Given the description of an element on the screen output the (x, y) to click on. 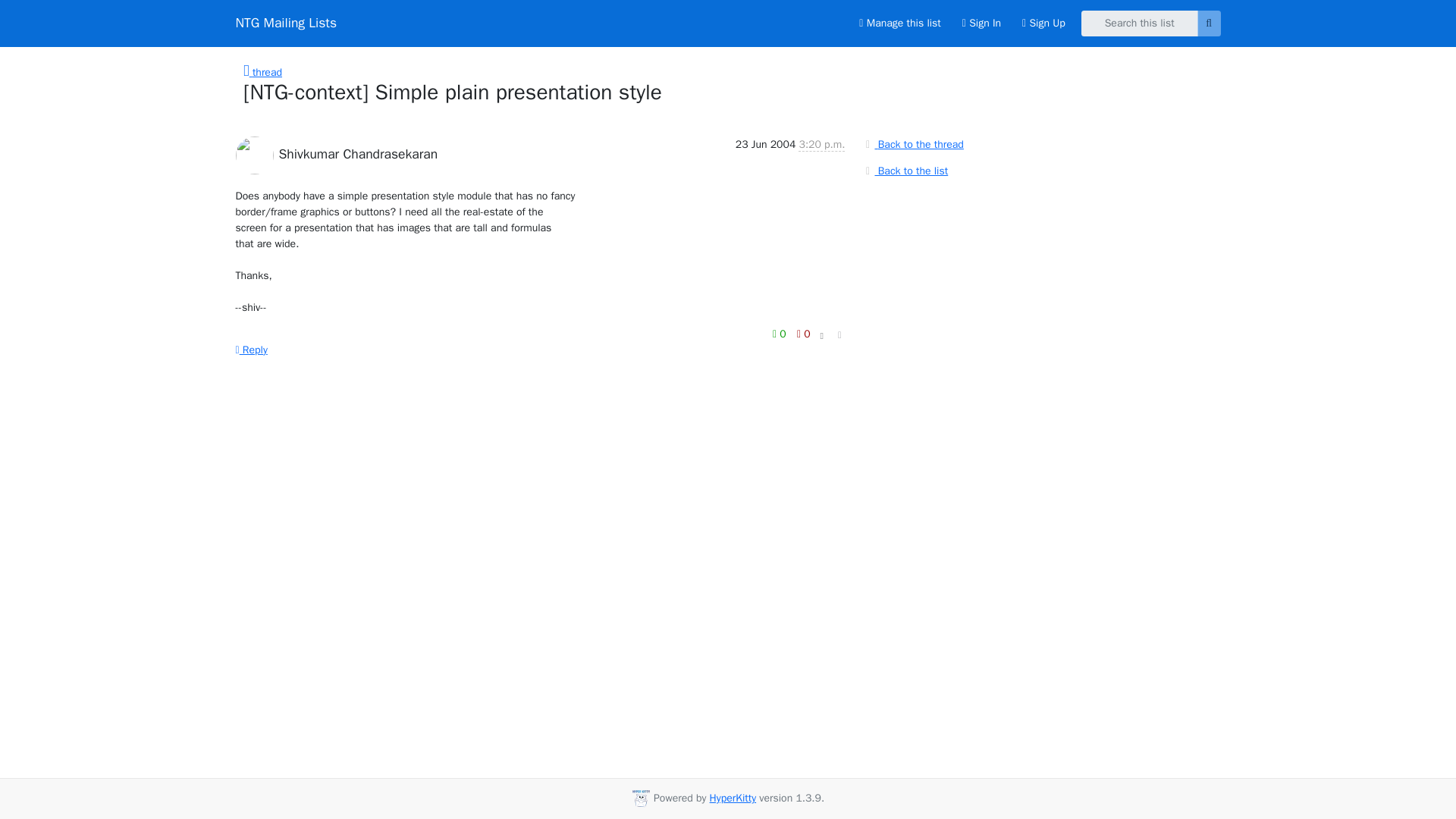
thread (262, 72)
NTG Mailing Lists (285, 23)
0 (780, 332)
Back to the list (903, 169)
Back to the thread (911, 144)
0 (803, 332)
Sender's time: June 23, 2004, 2:20 p.m. (820, 144)
Sign Up (1043, 22)
Sign In (981, 22)
HyperKitty (733, 797)
